Given the description of an element on the screen output the (x, y) to click on. 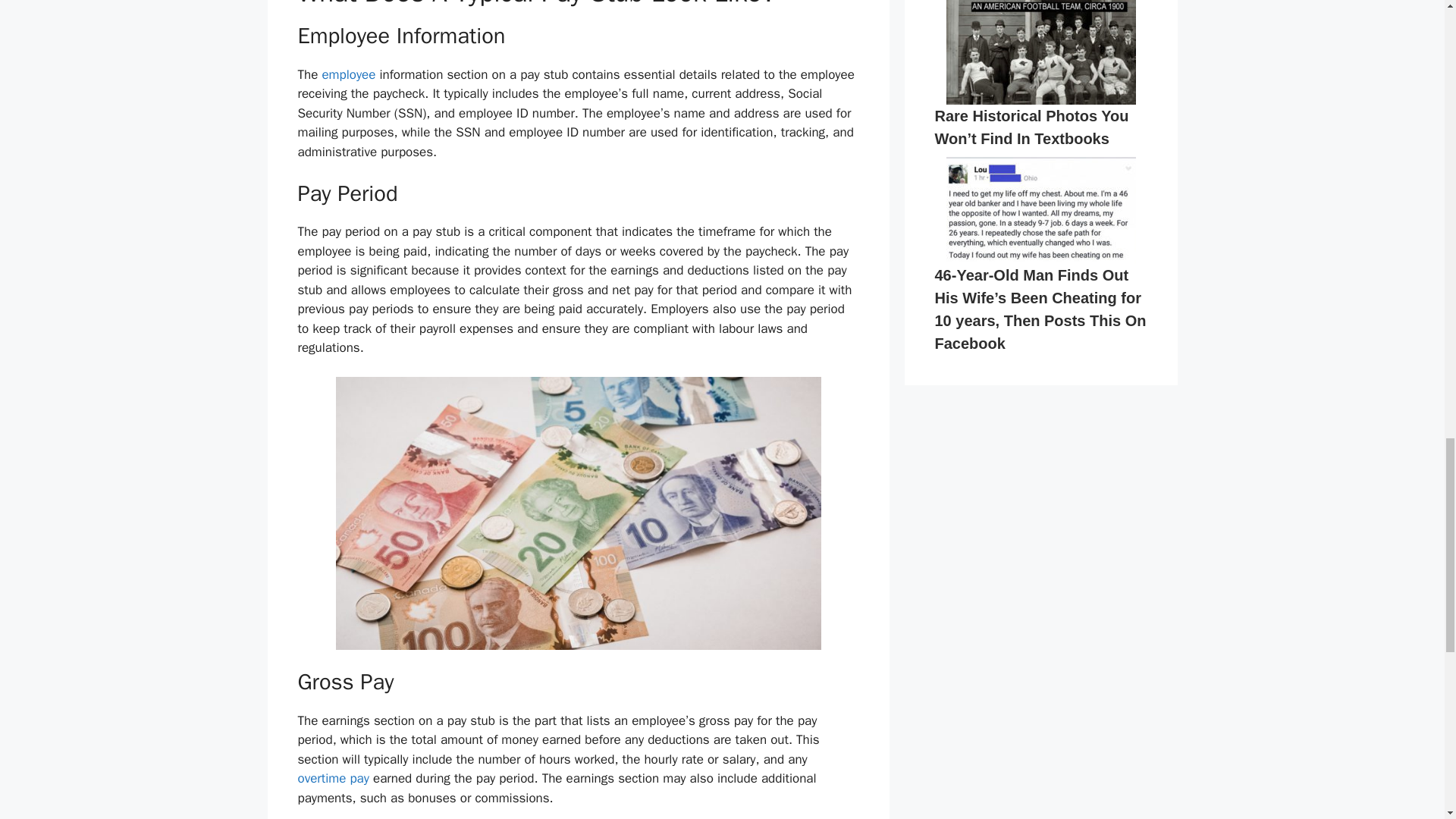
employee (348, 74)
overtime pay (332, 778)
